Given the description of an element on the screen output the (x, y) to click on. 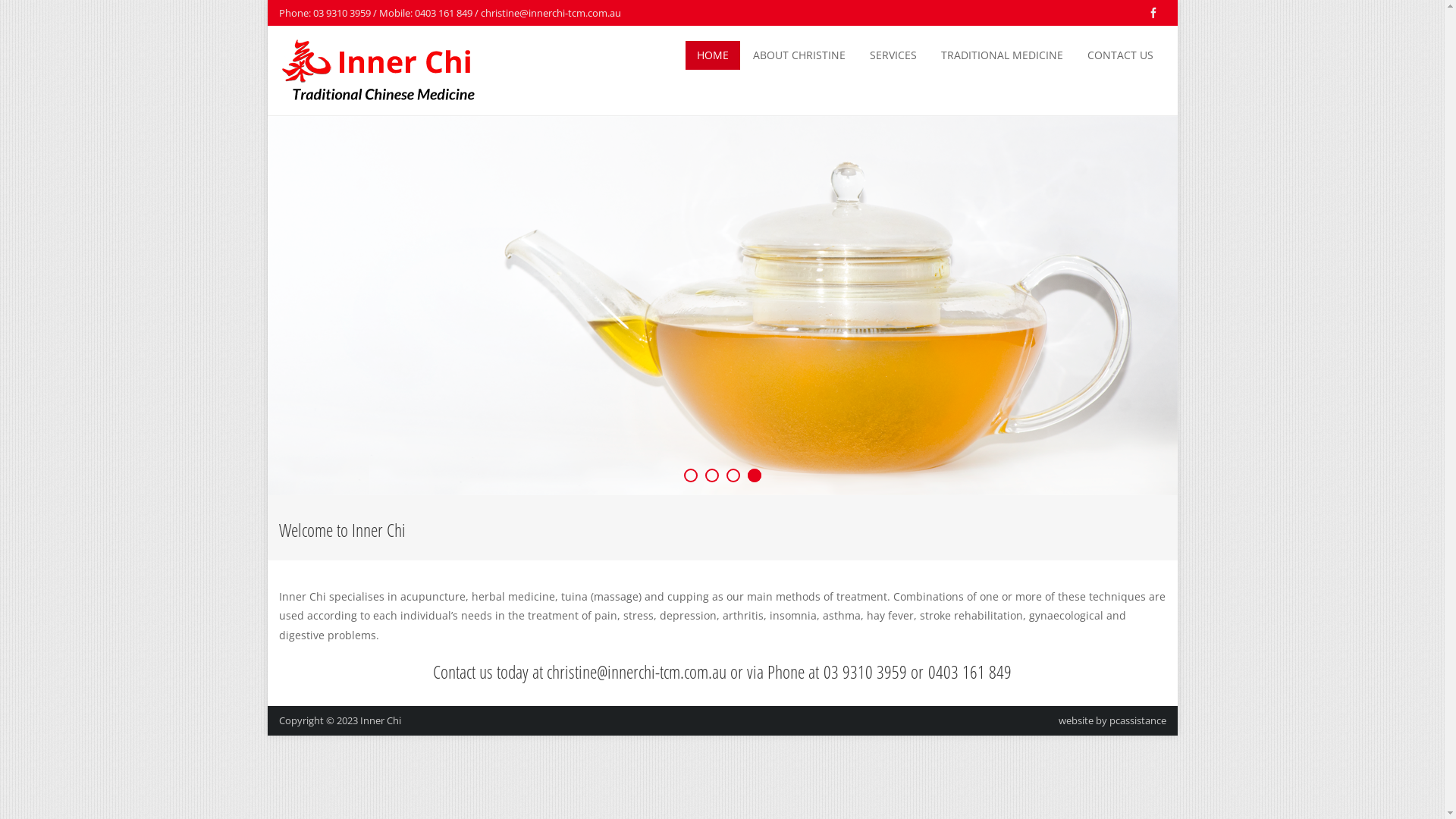
CONTACT US Element type: text (1119, 54)
HOME Element type: text (712, 54)
2 Element type: text (711, 475)
TRADITIONAL MEDICINE Element type: text (1001, 54)
ABOUT CHRISTINE Element type: text (798, 54)
Inner Chi Element type: text (379, 720)
1 Element type: text (690, 475)
4 Element type: text (754, 475)
SERVICES Element type: text (893, 54)
3 Element type: text (733, 475)
